Given the description of an element on the screen output the (x, y) to click on. 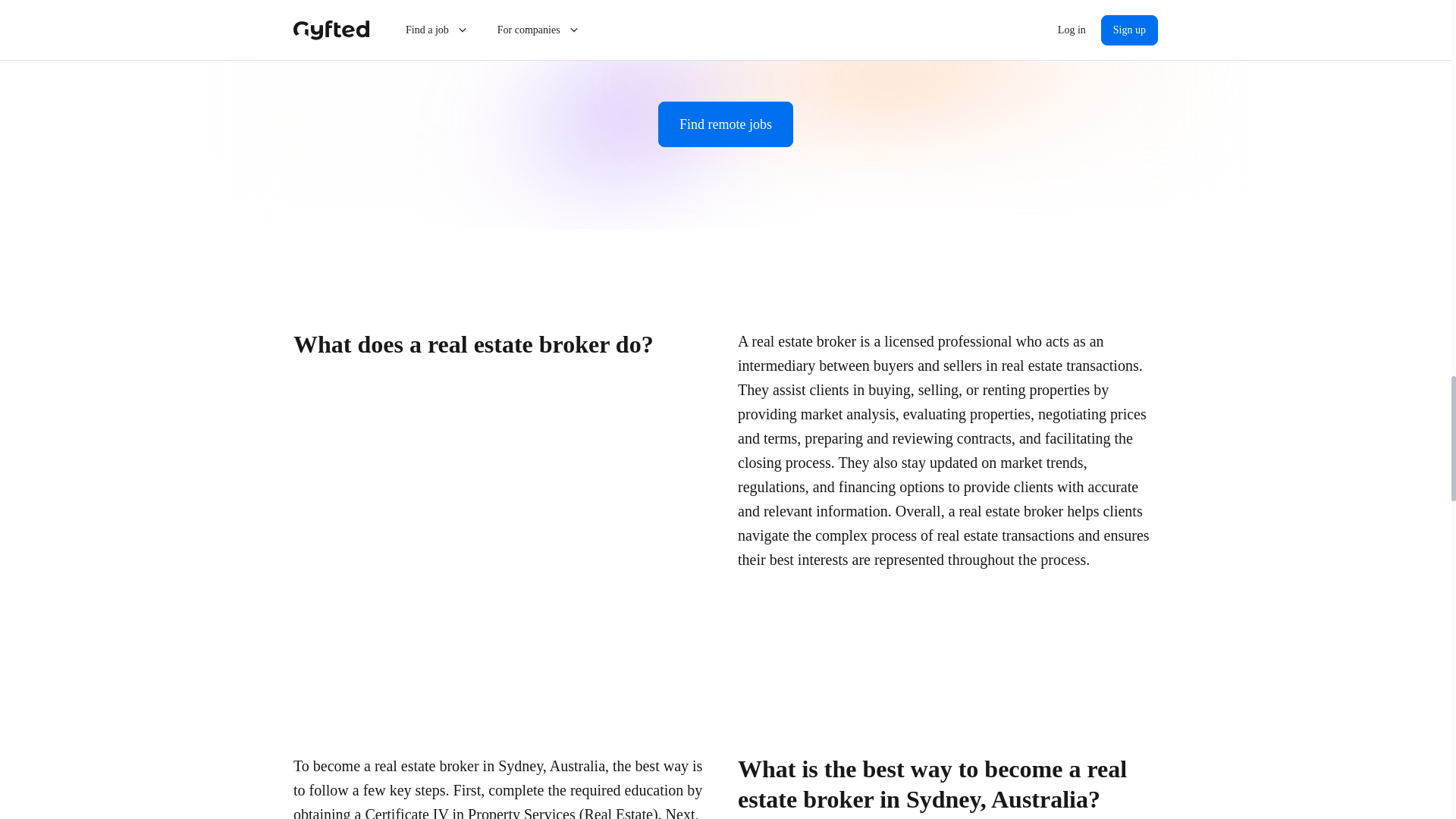
Find remote jobs (725, 124)
